Given the description of an element on the screen output the (x, y) to click on. 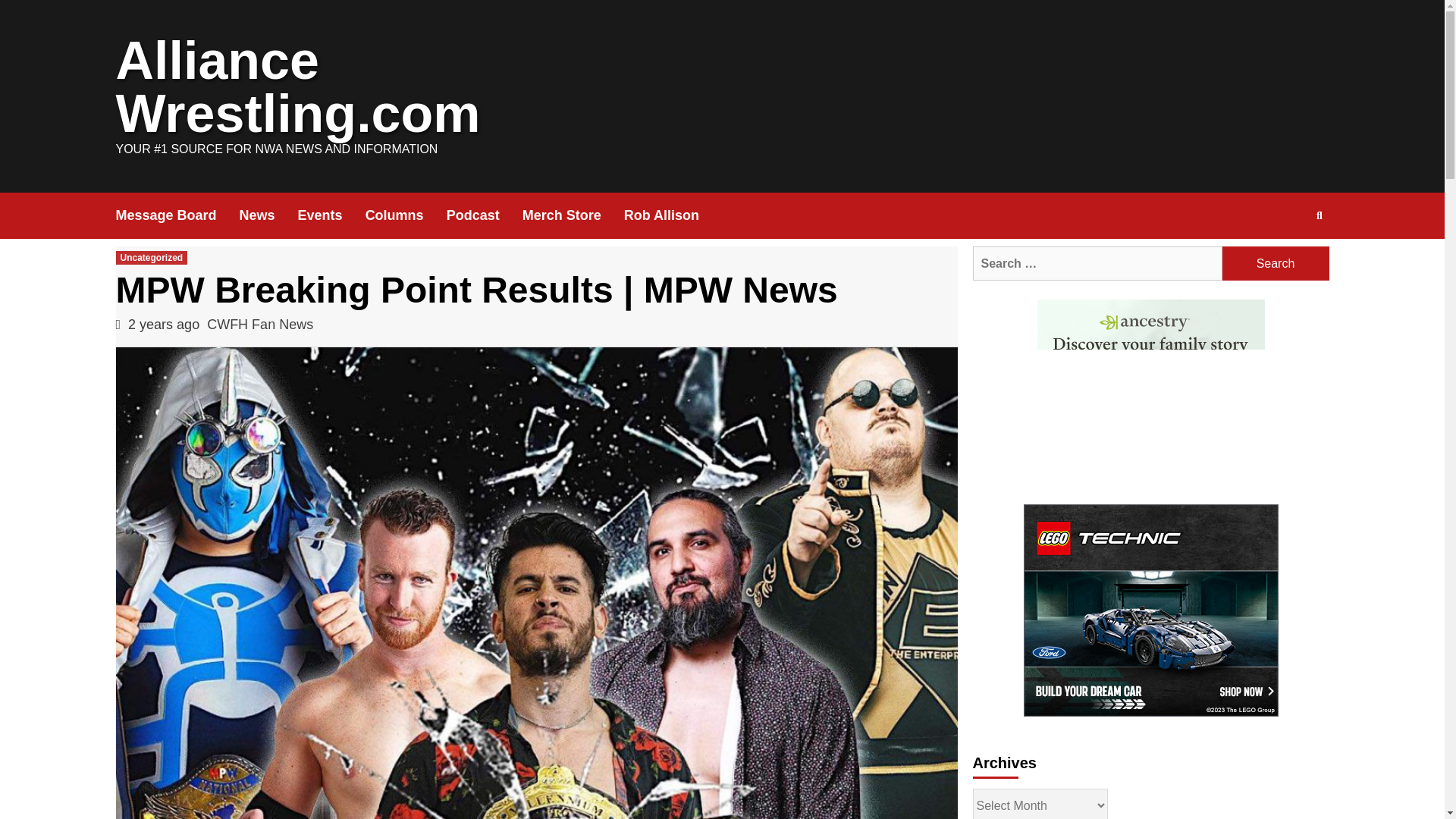
Columns (405, 215)
Podcast (484, 215)
Rob Allison (673, 215)
Message Board (176, 215)
News (269, 215)
Events (331, 215)
Search (1276, 263)
Uncategorized (151, 257)
Search (1283, 264)
Search (1276, 263)
